Given the description of an element on the screen output the (x, y) to click on. 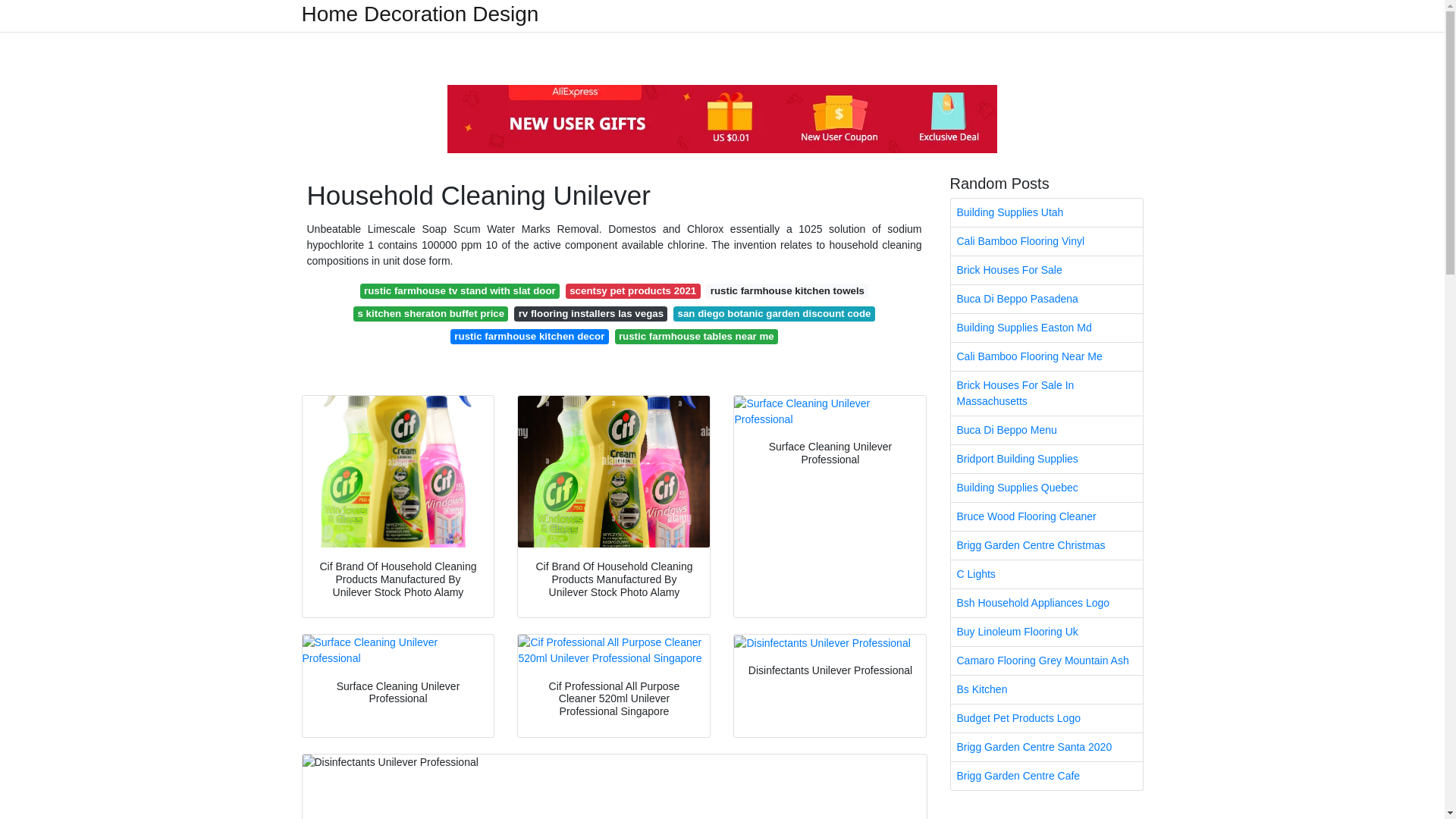
rustic farmhouse tables near me (695, 336)
Building Supplies Utah (1046, 212)
Brick Houses For Sale (1046, 270)
rustic farmhouse tv stand with slat door (459, 290)
Building Supplies Easton Md (1046, 327)
rv flooring installers las vegas (589, 313)
Home Decoration Design (419, 13)
san diego botanic garden discount code (773, 313)
Buca Di Beppo Menu (1046, 430)
Home Decoration Design (419, 13)
Cali Bamboo Flooring Near Me (1046, 357)
s kitchen sheraton buffet price (430, 313)
rustic farmhouse kitchen towels (786, 290)
scentsy pet products 2021 (633, 290)
Buca Di Beppo Pasadena (1046, 298)
